Given the description of an element on the screen output the (x, y) to click on. 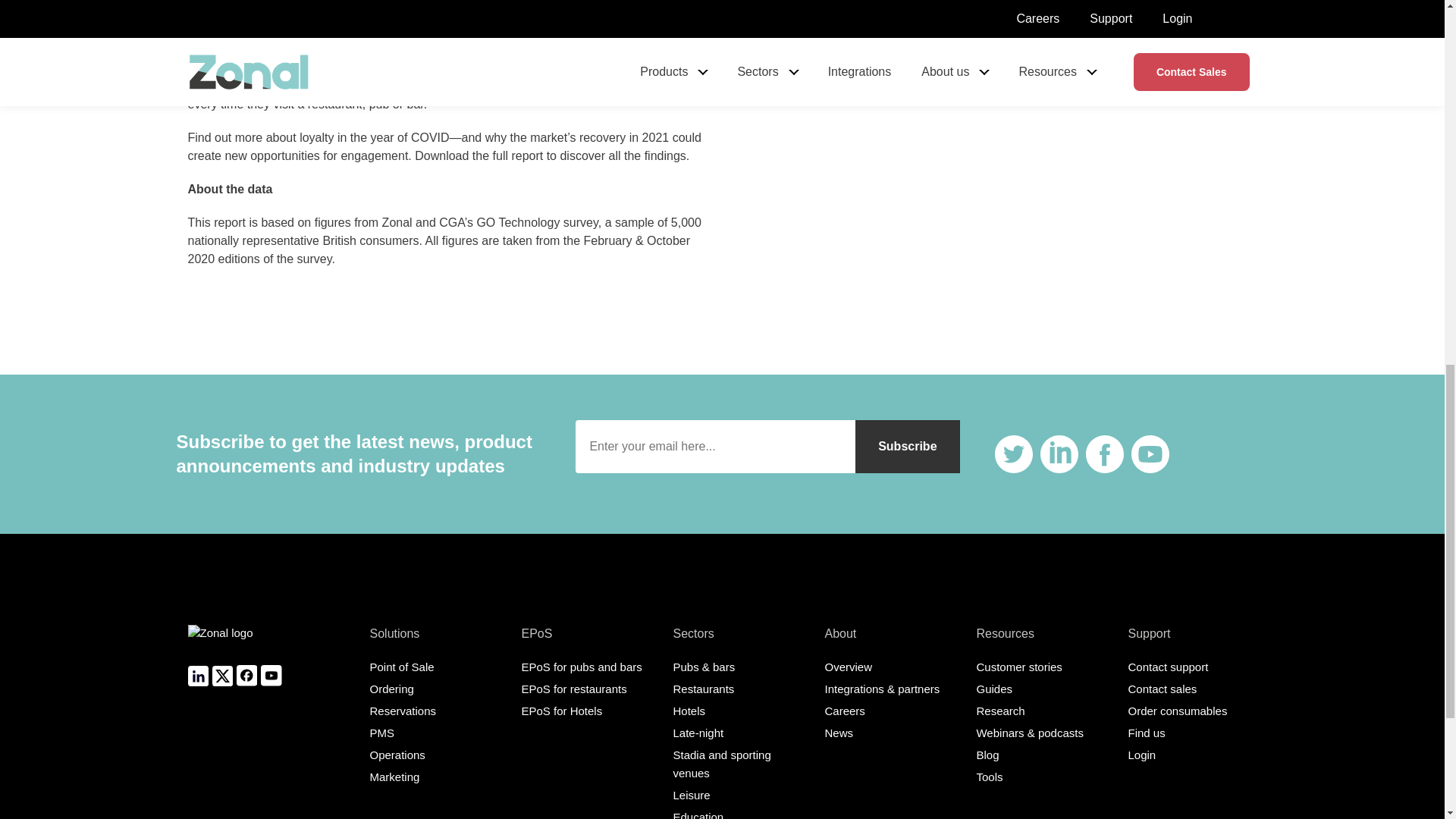
Subscribe (907, 446)
This is the Facebook logo (1105, 453)
Back to homepage (220, 644)
This is the LinkedIn logo (1059, 453)
This is the Twitter logo (1013, 453)
This is the Youtube icon (1150, 453)
